Given the description of an element on the screen output the (x, y) to click on. 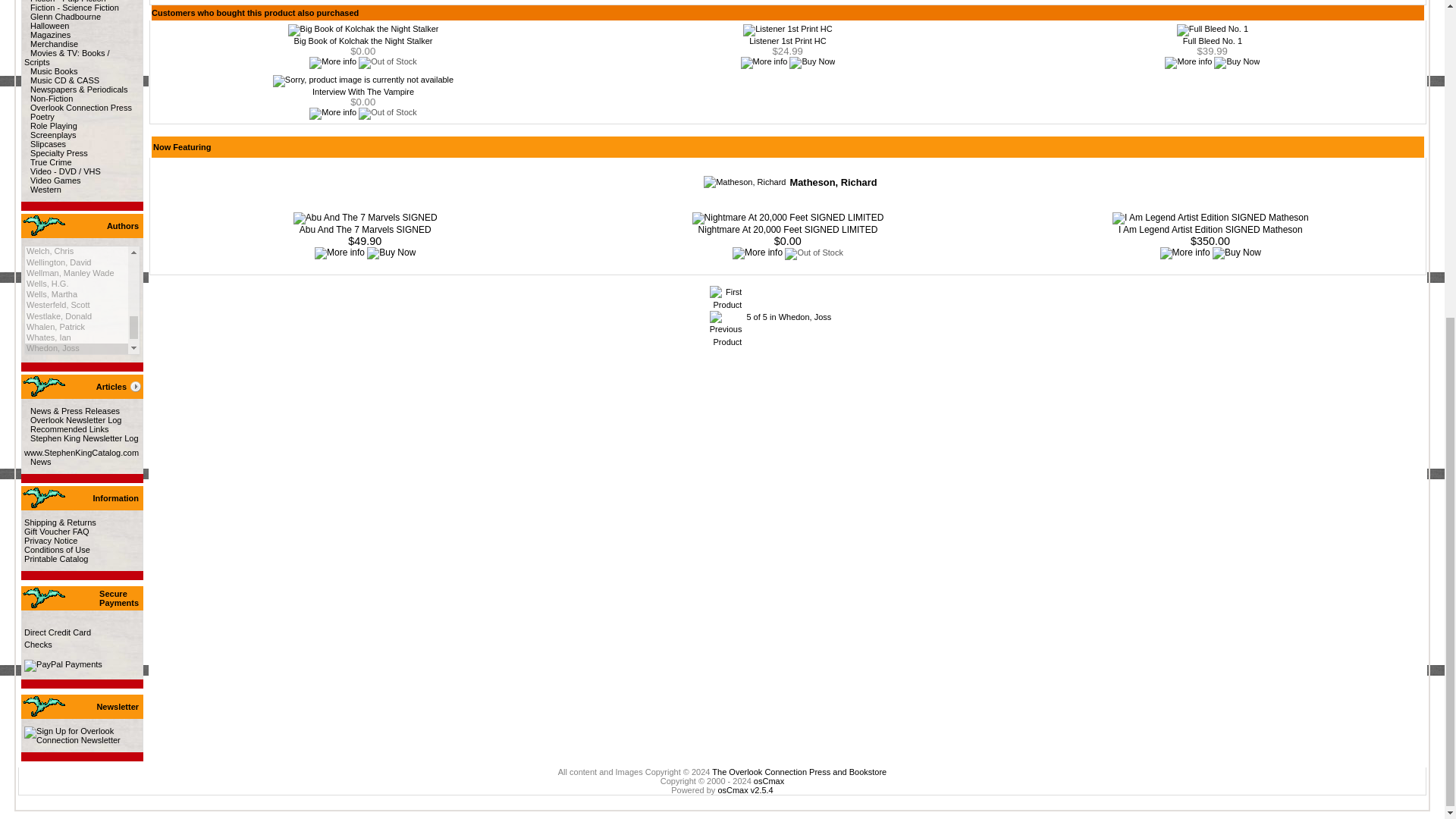
 Full Bleed No. 1  (1211, 30)
 More info  (332, 62)
 More info  (763, 62)
 Buy Now  (811, 62)
 Out of Stock  (387, 62)
 More info  (1187, 62)
 more  (135, 386)
 Listener 1st Print HC  (786, 30)
 Big Book of Kolchak the Night Stalker  (363, 30)
